Given the description of an element on the screen output the (x, y) to click on. 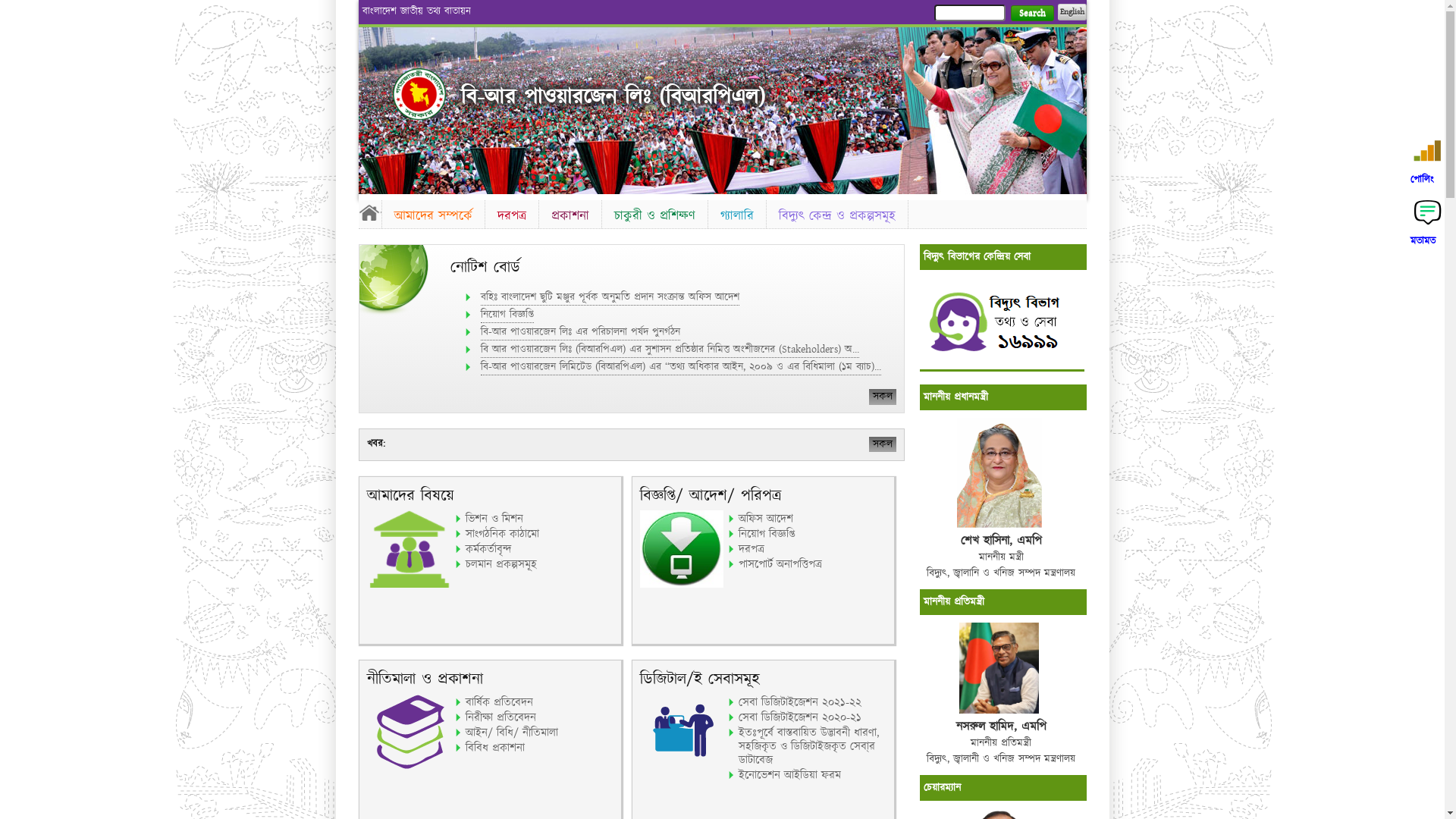
Home Element type: hover (418, 93)
Home Element type: hover (368, 211)
Search Element type: text (1031, 13)
English Element type: text (1071, 11)
